Given the description of an element on the screen output the (x, y) to click on. 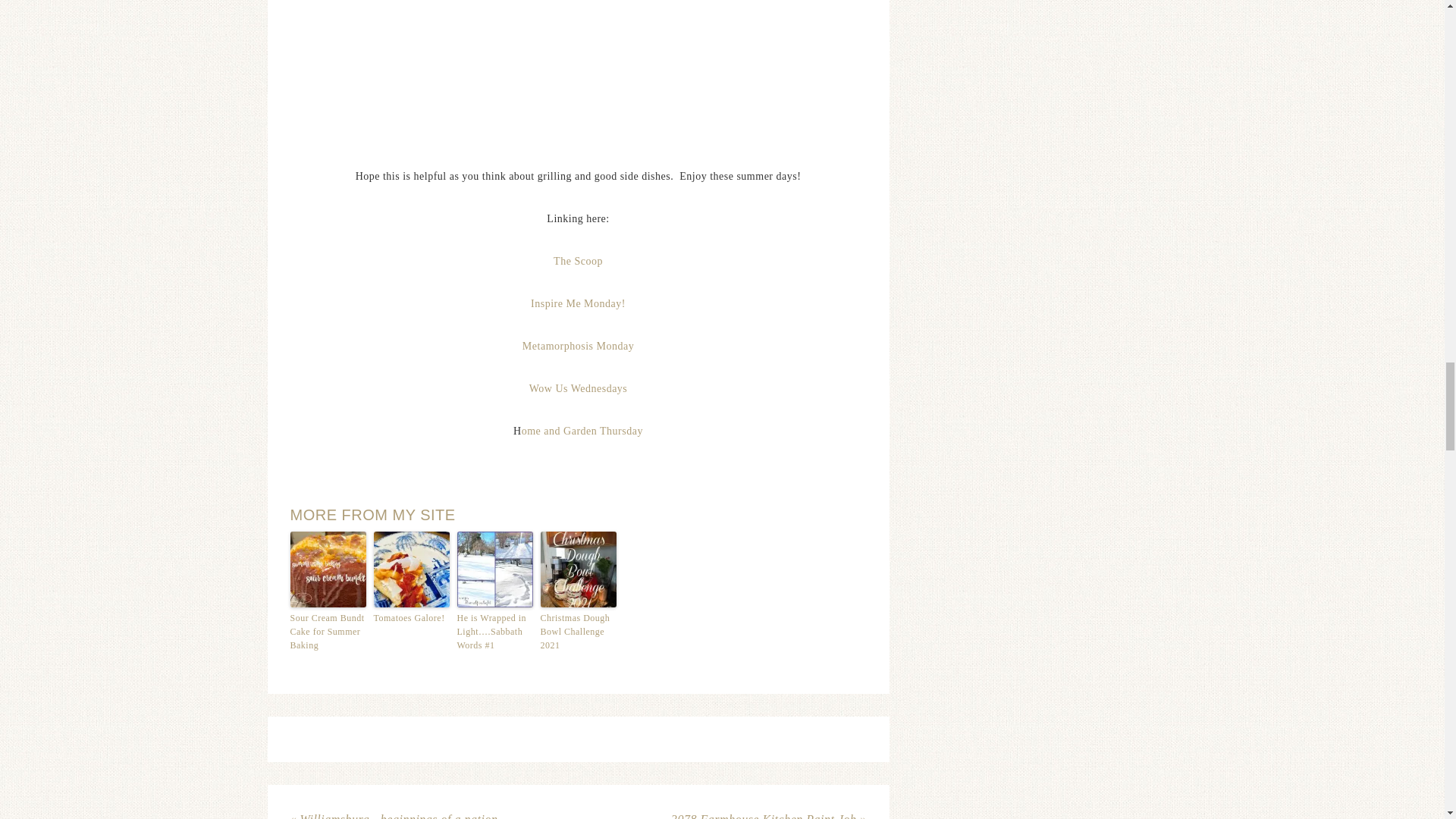
Tomatoes Galore! (410, 617)
Sour Cream Bundt Cake for Summer Baking (327, 630)
Metamorphosis Monday (577, 346)
Wow Us Wednesdays (578, 388)
ome and Garden Thursday (582, 430)
Christmas Dough Bowl Challenge 2021 (577, 630)
Inspire Me Monday! (578, 303)
The Scoop (577, 260)
